Given the description of an element on the screen output the (x, y) to click on. 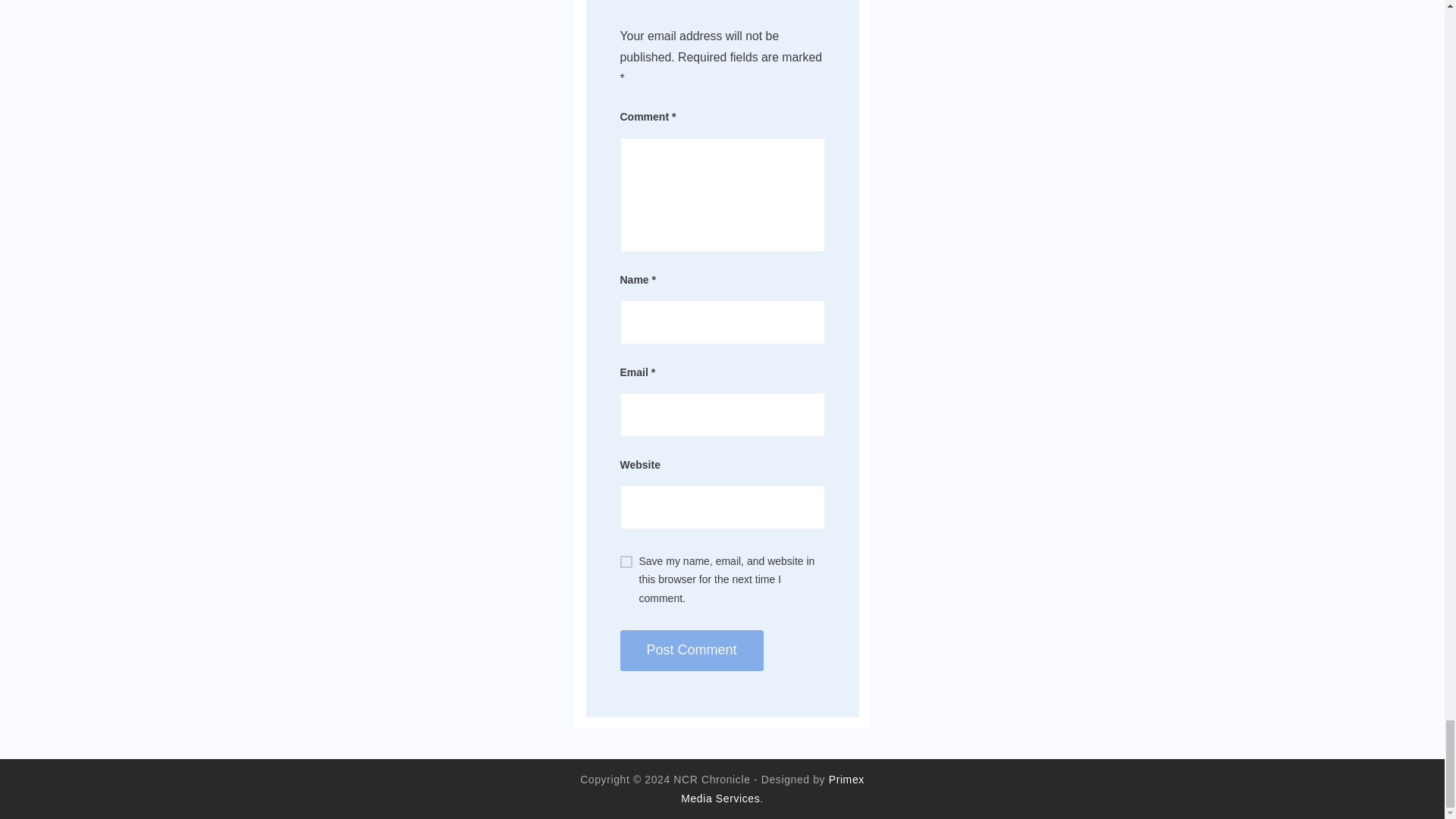
Post Comment (691, 649)
